Given the description of an element on the screen output the (x, y) to click on. 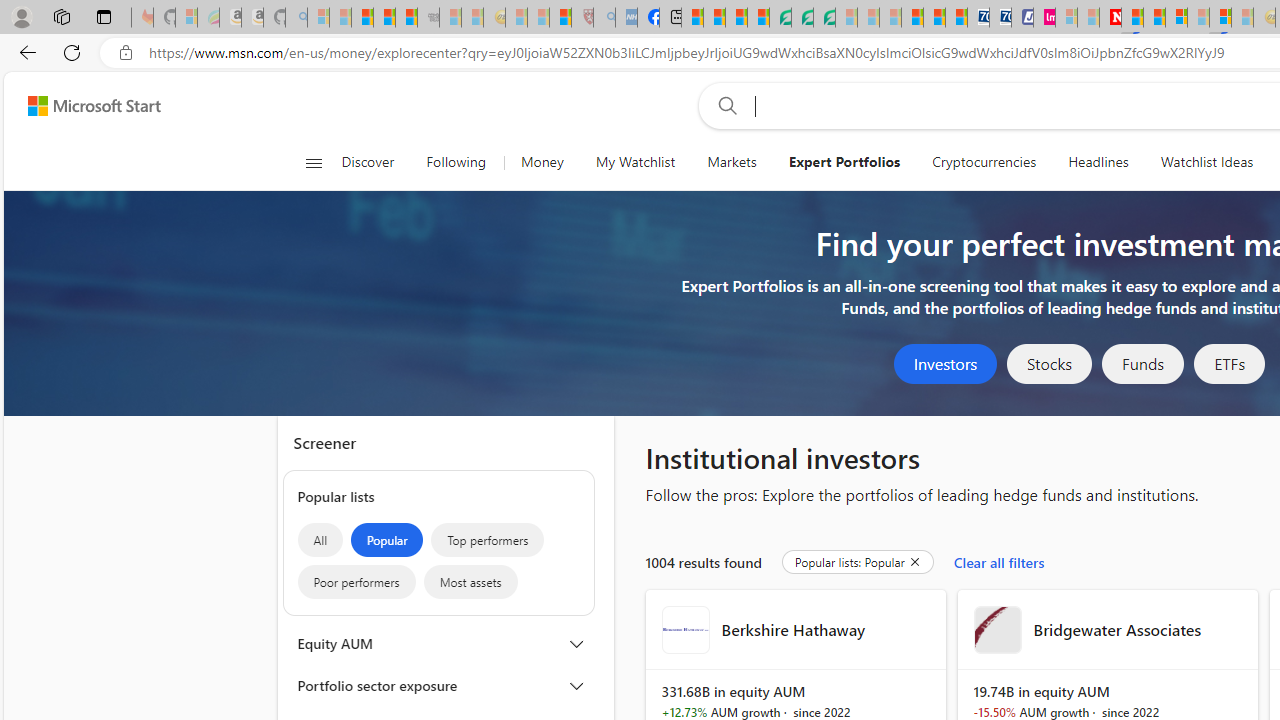
Watchlist Ideas (1206, 162)
Watchlist Ideas (1206, 162)
